Given the description of an element on the screen output the (x, y) to click on. 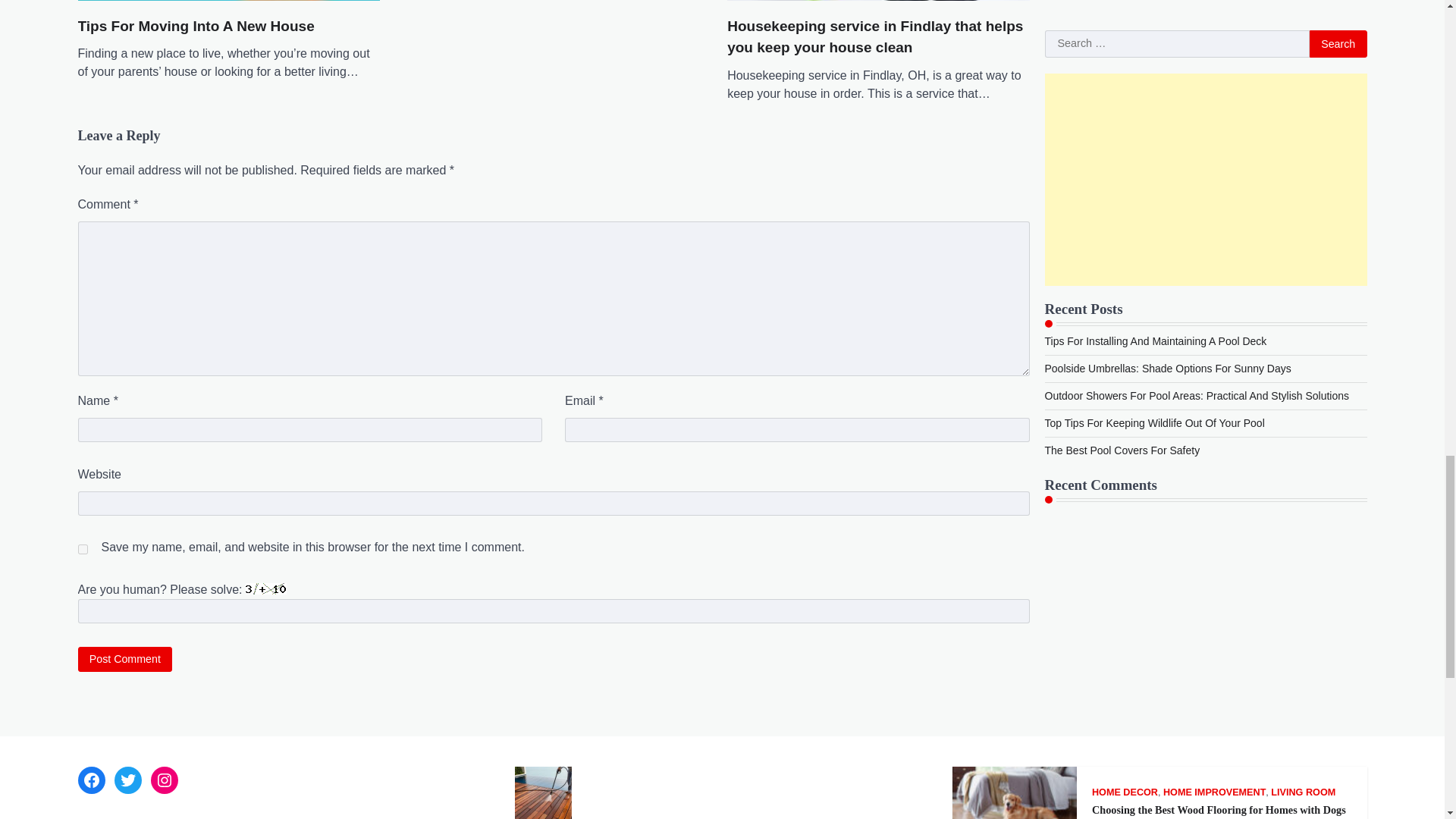
Post Comment (124, 659)
Tips For Moving Into A New House (195, 25)
Twitter (127, 779)
Facebook (90, 779)
yes (82, 549)
Instagram (163, 779)
Post Comment (124, 659)
